Given the description of an element on the screen output the (x, y) to click on. 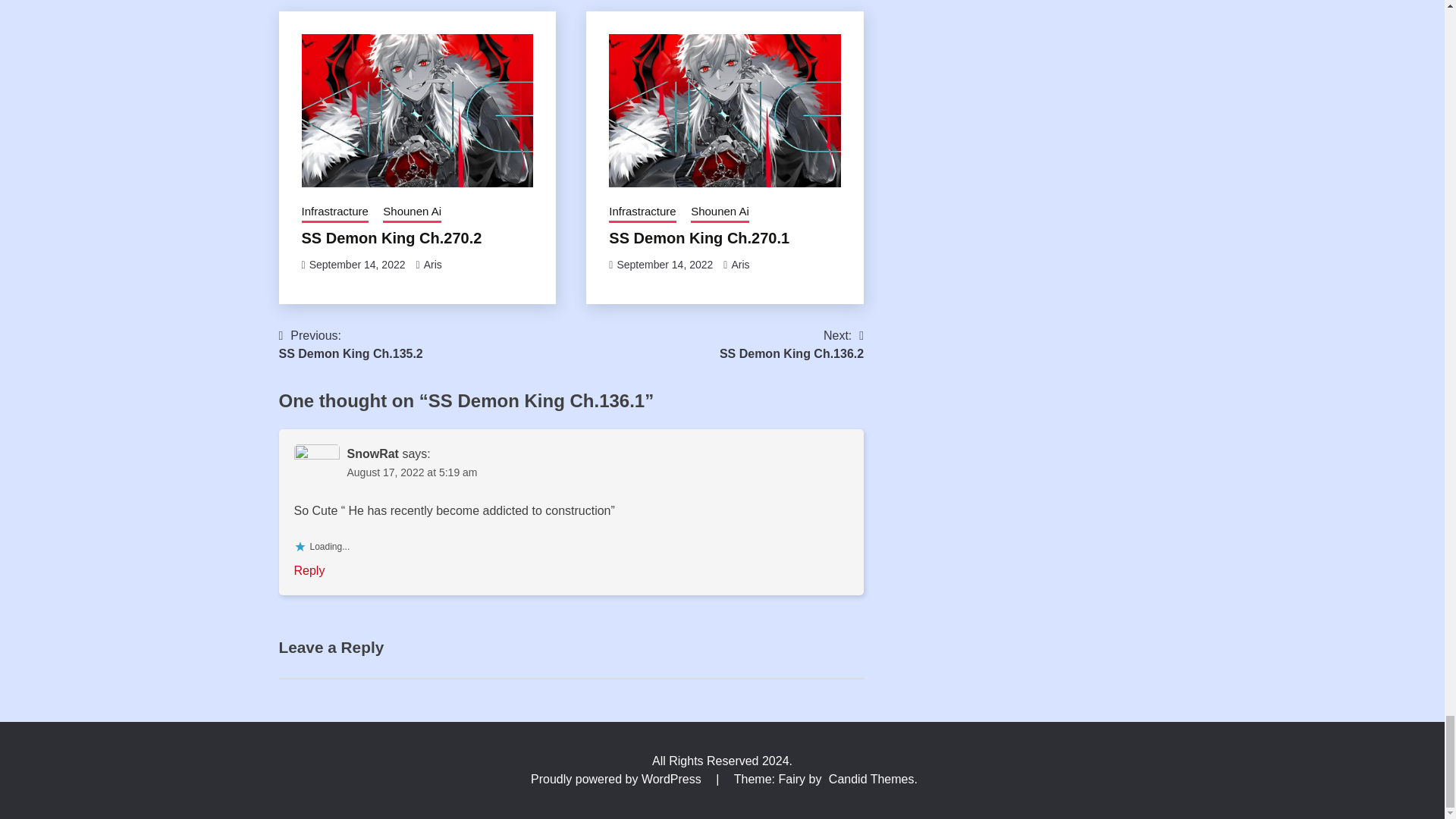
SS Demon King Ch.270.2 (391, 238)
Infrastracture (334, 212)
SS Demon King Ch.270.1 (698, 238)
Aris (432, 264)
September 14, 2022 (357, 264)
Shounen Ai (719, 212)
Infrastracture (641, 212)
Shounen Ai (411, 212)
